Given the description of an element on the screen output the (x, y) to click on. 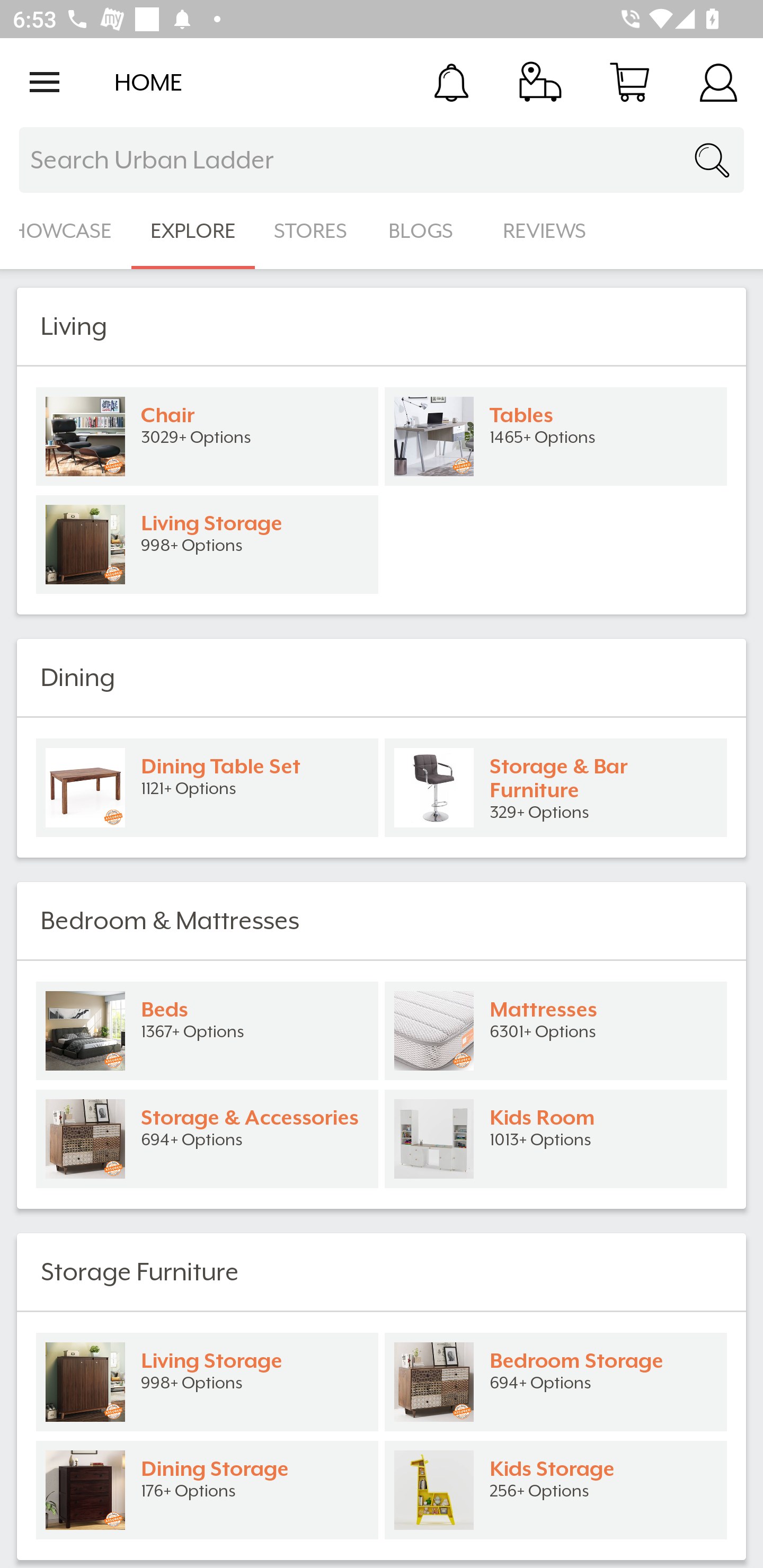
Open navigation drawer (44, 82)
Notification (450, 81)
Track Order (540, 81)
Cart (629, 81)
Account Details (718, 81)
Search Urban Ladder  (381, 159)
SHOWCASE (65, 230)
EXPLORE (192, 230)
STORES (311, 230)
BLOGS (426, 230)
REVIEWS (544, 230)
Chair 3029+ Options (206, 436)
Tables 1465+ Options (555, 436)
Living Storage 998+ Options (206, 544)
Dining Table Set 1121+ Options (206, 787)
Storage & Bar Furniture 329+ Options (555, 787)
Beds 1367+ Options (206, 1030)
Mattresses 6301+ Options (555, 1030)
Storage & Accessories 694+ Options (206, 1139)
Kids Room 1013+ Options (555, 1139)
Living Storage 998+ Options (206, 1382)
Bedroom Storage 694+ Options (555, 1382)
Dining Storage 176+ Options (206, 1490)
Kids Storage 256+ Options (555, 1490)
